Given the description of an element on the screen output the (x, y) to click on. 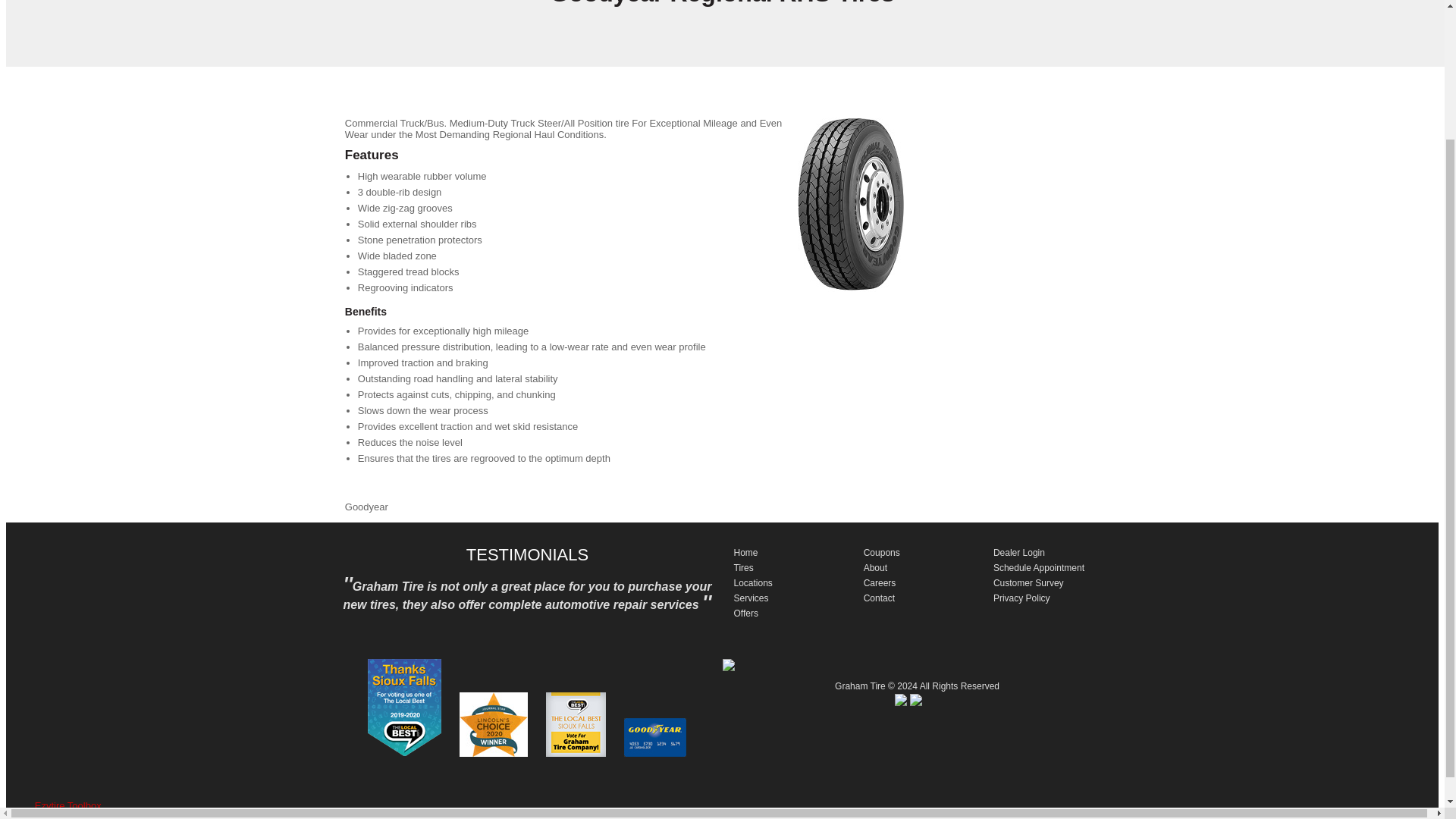
Tires (743, 567)
About (874, 567)
Offers (745, 613)
Ezytire Toolbox (67, 805)
Locations (753, 583)
Customer Survey (1028, 583)
Privacy Policy (1020, 597)
Services (750, 597)
Dealer Login (1018, 552)
Home (745, 552)
